Given the description of an element on the screen output the (x, y) to click on. 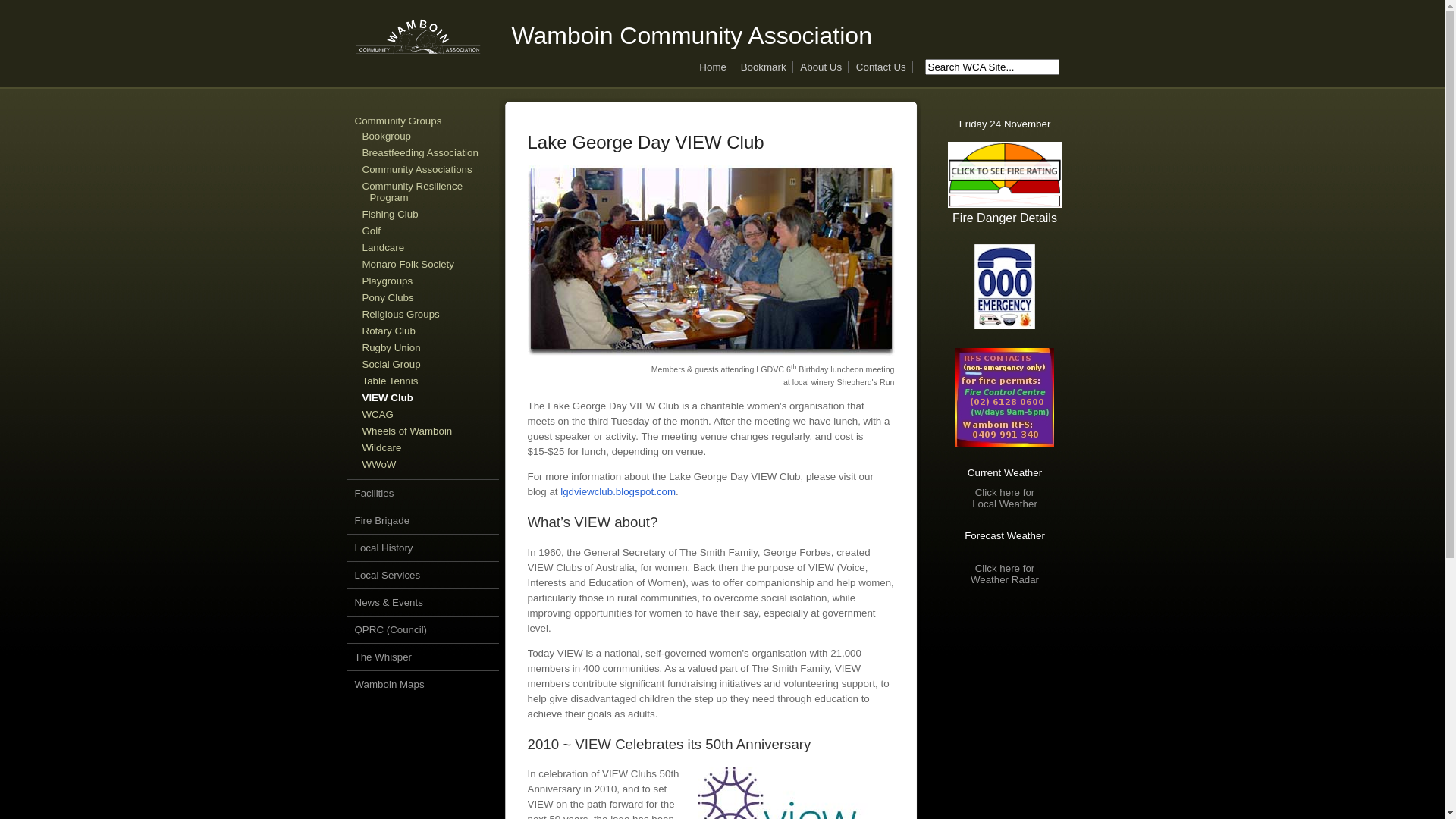
Golf Element type: text (371, 230)
News & Events Element type: text (388, 602)
Wheels of Wamboin Element type: text (407, 430)
Monaro Folk Society Element type: text (408, 263)
lgdviewclub.blogspot.com Element type: text (617, 491)
Fire Brigade Element type: text (382, 520)
VIEW Club Element type: text (387, 397)
WWoW Element type: text (379, 464)
QPRC (Council) Element type: text (390, 629)
Landcare Element type: text (383, 247)
Go to Home Page Element type: hover (417, 51)
Enter search criteria Element type: hover (992, 67)
Community Resilience Program Element type: text (412, 191)
Fishing Club Element type: text (390, 213)
Click here for
Weather Radar Element type: text (1004, 573)
Click for explanation of Emergency Contact Element type: hover (1004, 286)
Playgroups Element type: text (387, 280)
Rugby Union Element type: text (391, 347)
Local History Element type: text (383, 547)
Contact Us Element type: text (881, 66)
Wildcare Element type: text (381, 447)
Pony Clubs Element type: text (388, 297)
Facilities Element type: text (374, 492)
WCAG Element type: text (377, 414)
Breastfeeding Association Element type: text (420, 152)
Bookmark Element type: text (763, 66)
About Us Element type: text (820, 66)
Table Tennis Element type: text (390, 380)
Community Groups Element type: text (398, 120)
Bookgroup Element type: text (386, 135)
Local Services Element type: text (387, 574)
Wamboin Maps Element type: text (389, 684)
Fire Danger Details Element type: text (1004, 183)
Click to view Wamboin Brigade pages Element type: hover (1004, 397)
Social Group Element type: text (391, 364)
The Whisper Element type: text (383, 656)
Home Element type: text (712, 66)
Religious Groups Element type: text (400, 314)
Click here for
Local Weather Element type: text (1004, 497)
Rotary Club Element type: text (388, 330)
Community Associations Element type: text (417, 169)
